Given the description of an element on the screen output the (x, y) to click on. 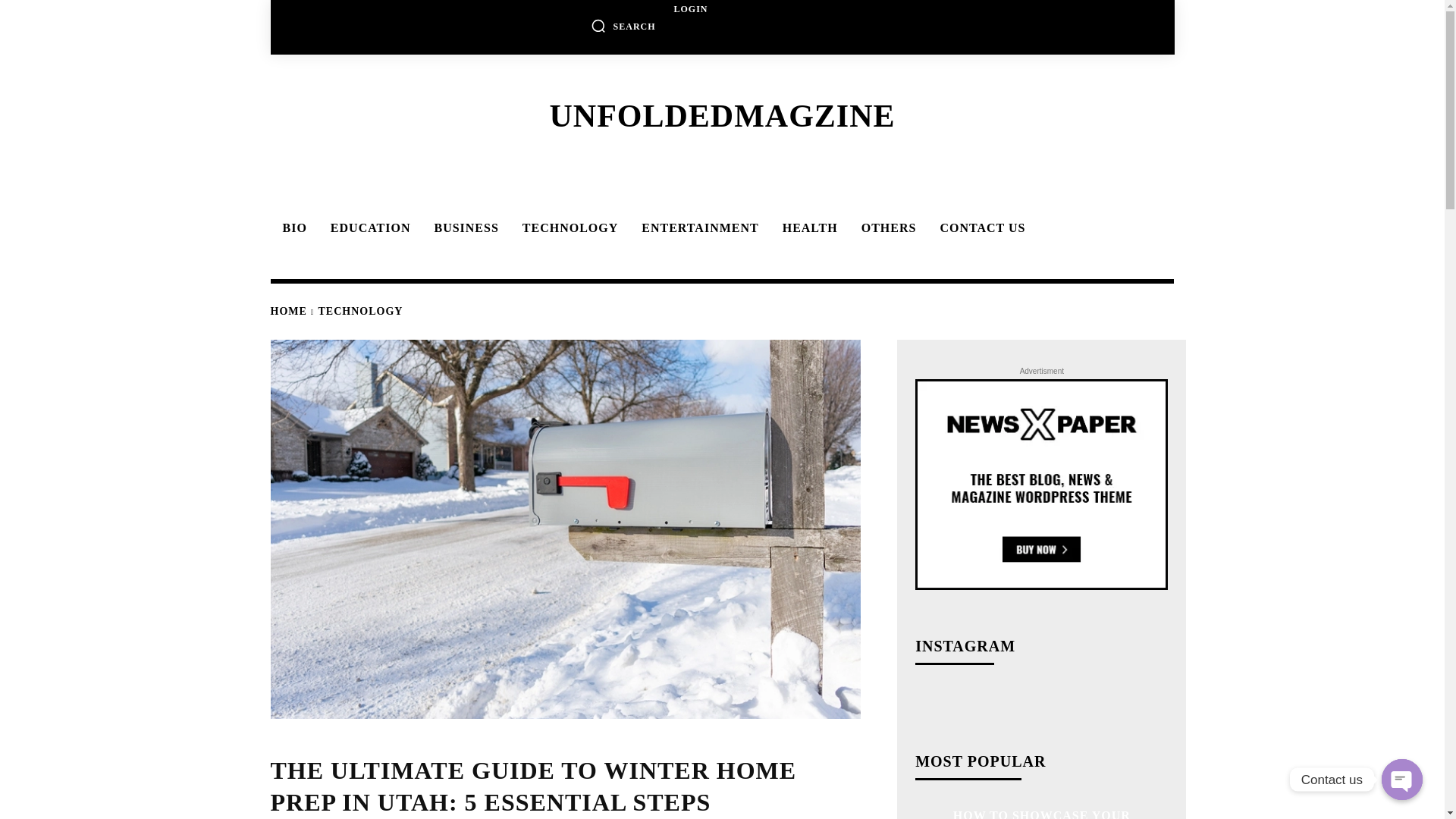
BUSINESS (463, 227)
BIO (291, 227)
LOGIN (689, 8)
TECHNOLOGY (568, 227)
EDUCATION (368, 227)
ENTERTAINMENT (696, 227)
View all posts in Technology (360, 310)
SEARCH (623, 25)
UNFOLDEDMAGZINE (721, 115)
HEALTH (807, 227)
